Given the description of an element on the screen output the (x, y) to click on. 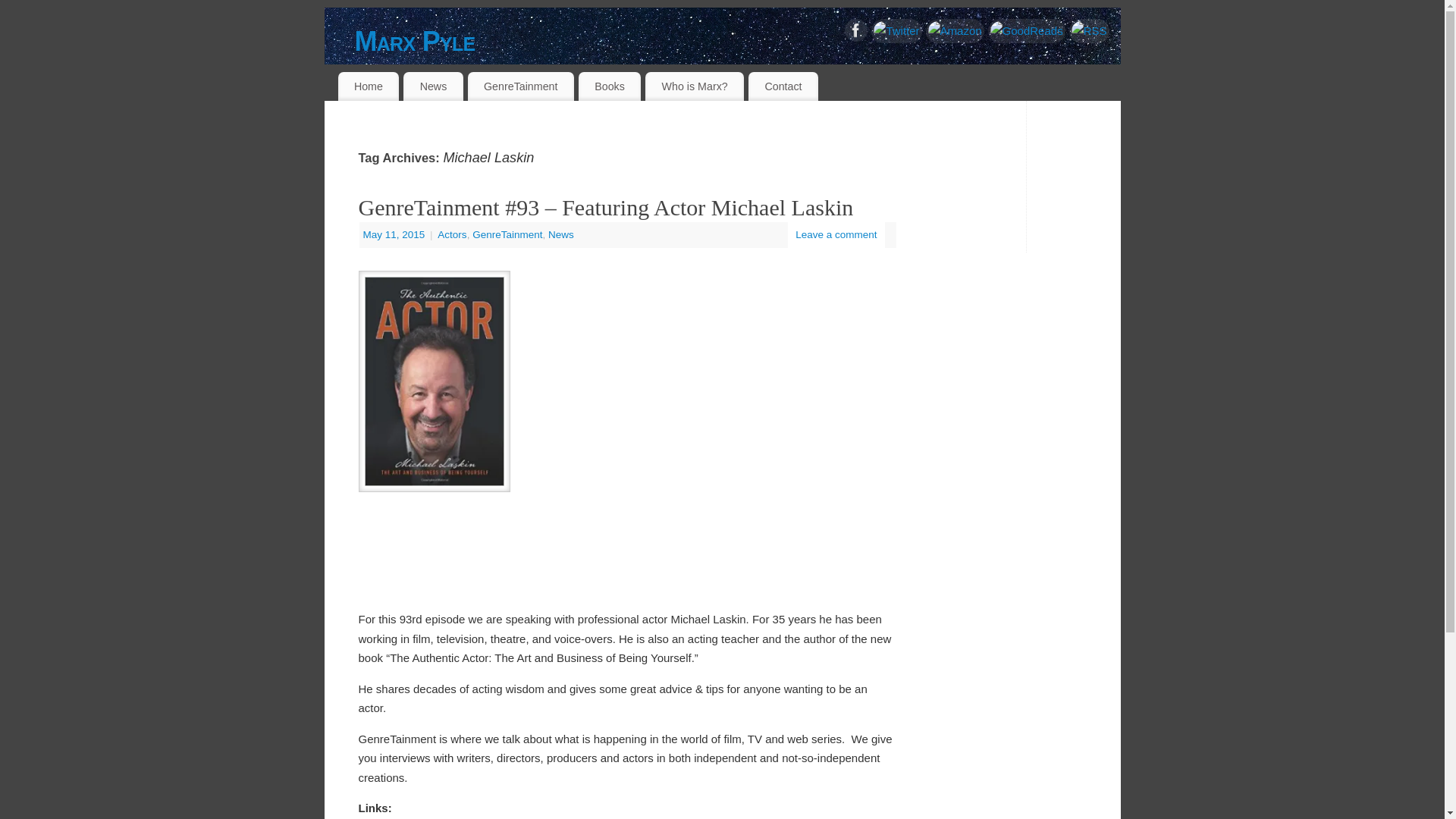
Amazon (955, 30)
Actors (451, 234)
RSS (1088, 30)
GenreTainment (520, 86)
Home (367, 86)
GoodReads (1026, 30)
Contact (783, 86)
12:21 am (395, 234)
News (560, 234)
Books (609, 86)
